Given the description of an element on the screen output the (x, y) to click on. 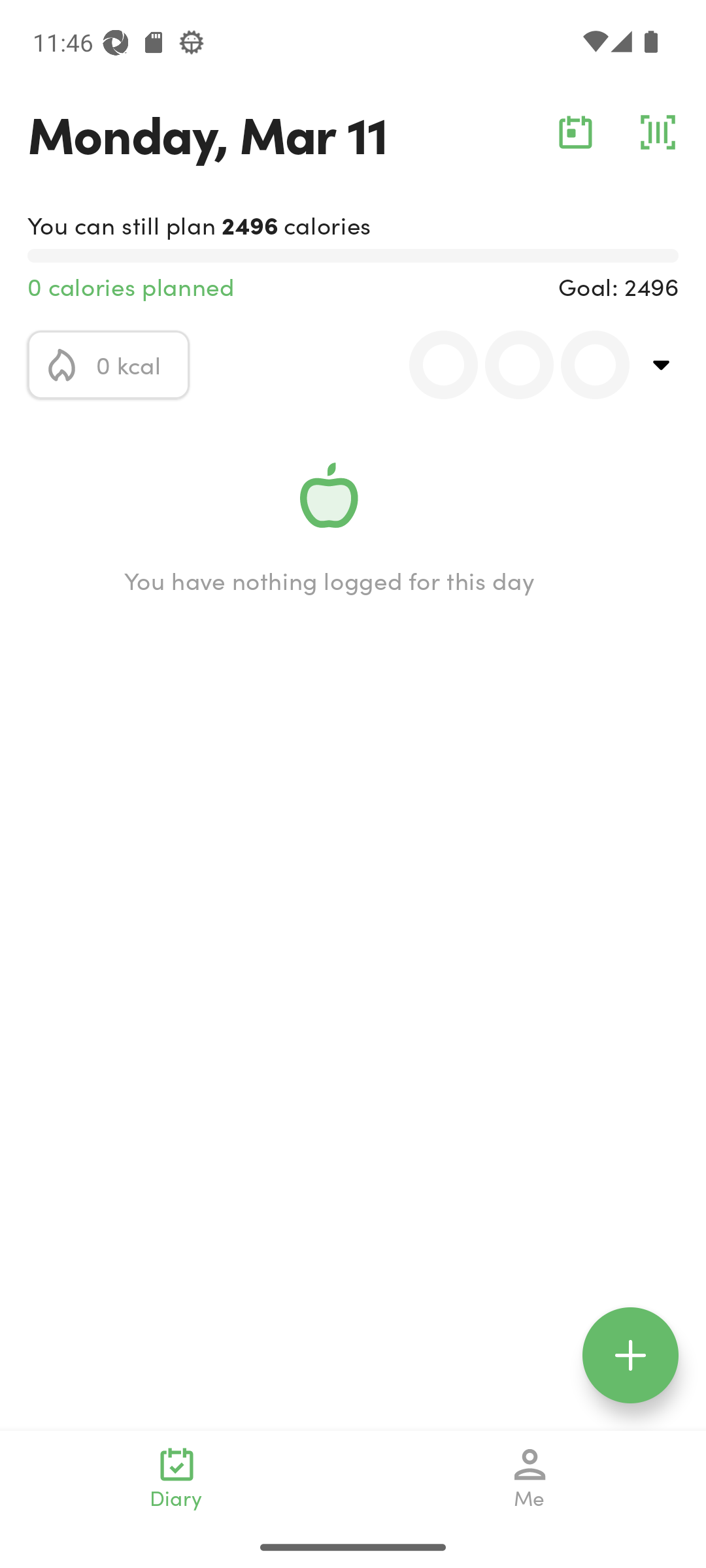
calendar_action (575, 132)
barcode_action (658, 132)
calorie_icon 0 kcal (108, 365)
0.0 0.0 0.0 (508, 365)
top_right_action (661, 365)
floating_action_icon (630, 1355)
Me navigation_icon (529, 1478)
